Given the description of an element on the screen output the (x, y) to click on. 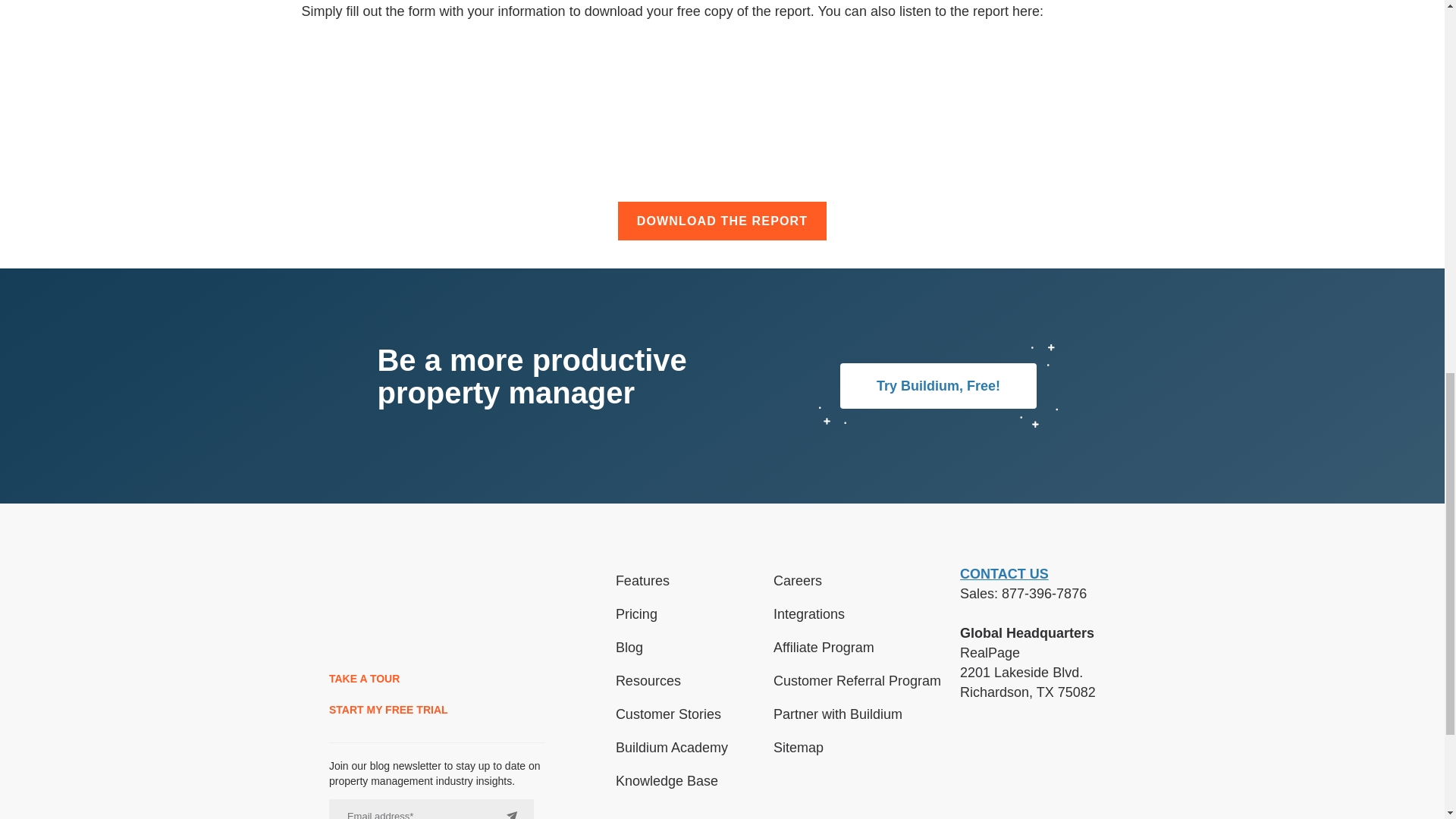
Buildium Homepage (372, 610)
Read reviews of Buildium on G2 (1002, 767)
